Given the description of an element on the screen output the (x, y) to click on. 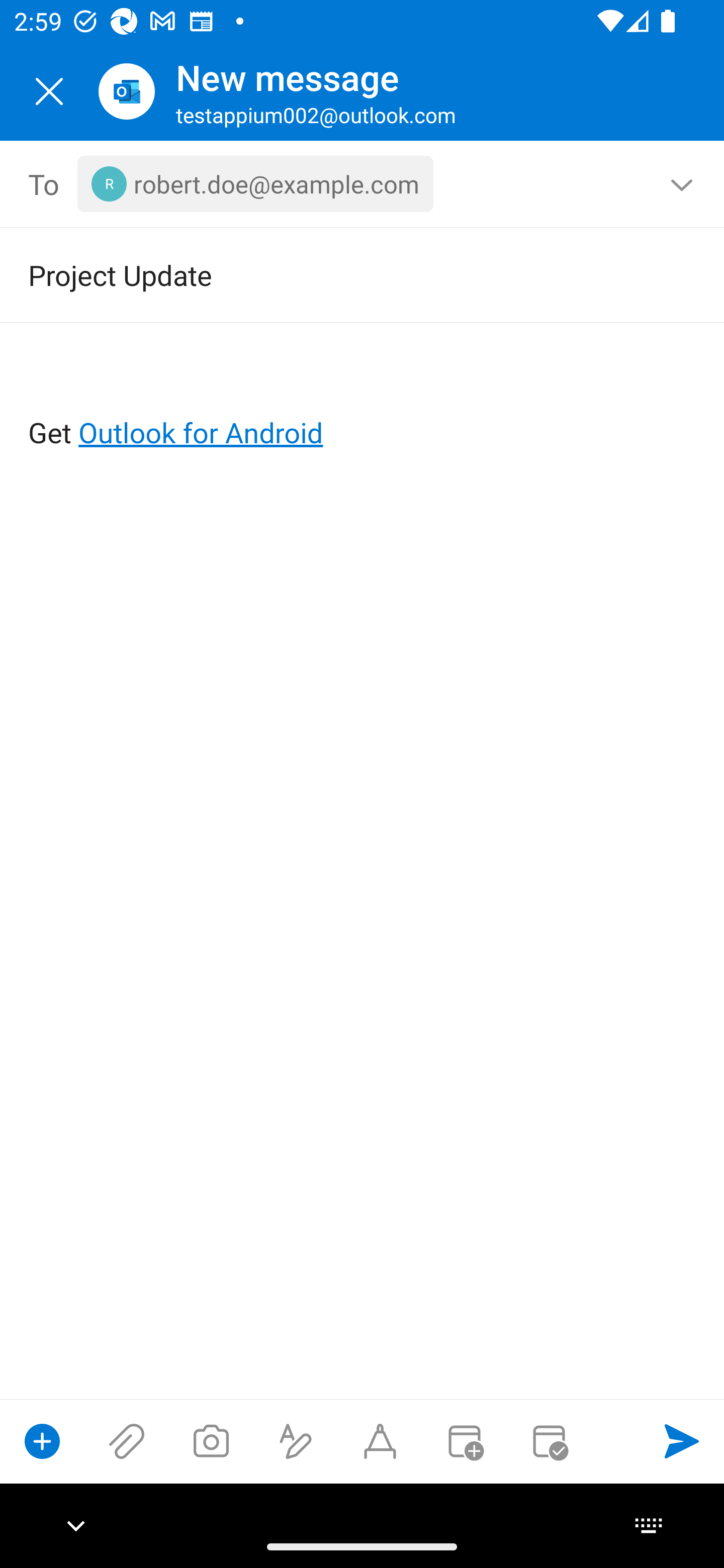
Close (49, 91)
To, 1 recipient <robert.doe@example.com> (362, 184)
Project Update (333, 274)


Get Outlook for Android (363, 400)
Show compose options (42, 1440)
Attach files (126, 1440)
Take a photo (210, 1440)
Show formatting options (295, 1440)
Start Ink compose (380, 1440)
Convert to event (464, 1440)
Send availability (548, 1440)
Send (681, 1440)
